Given the description of an element on the screen output the (x, y) to click on. 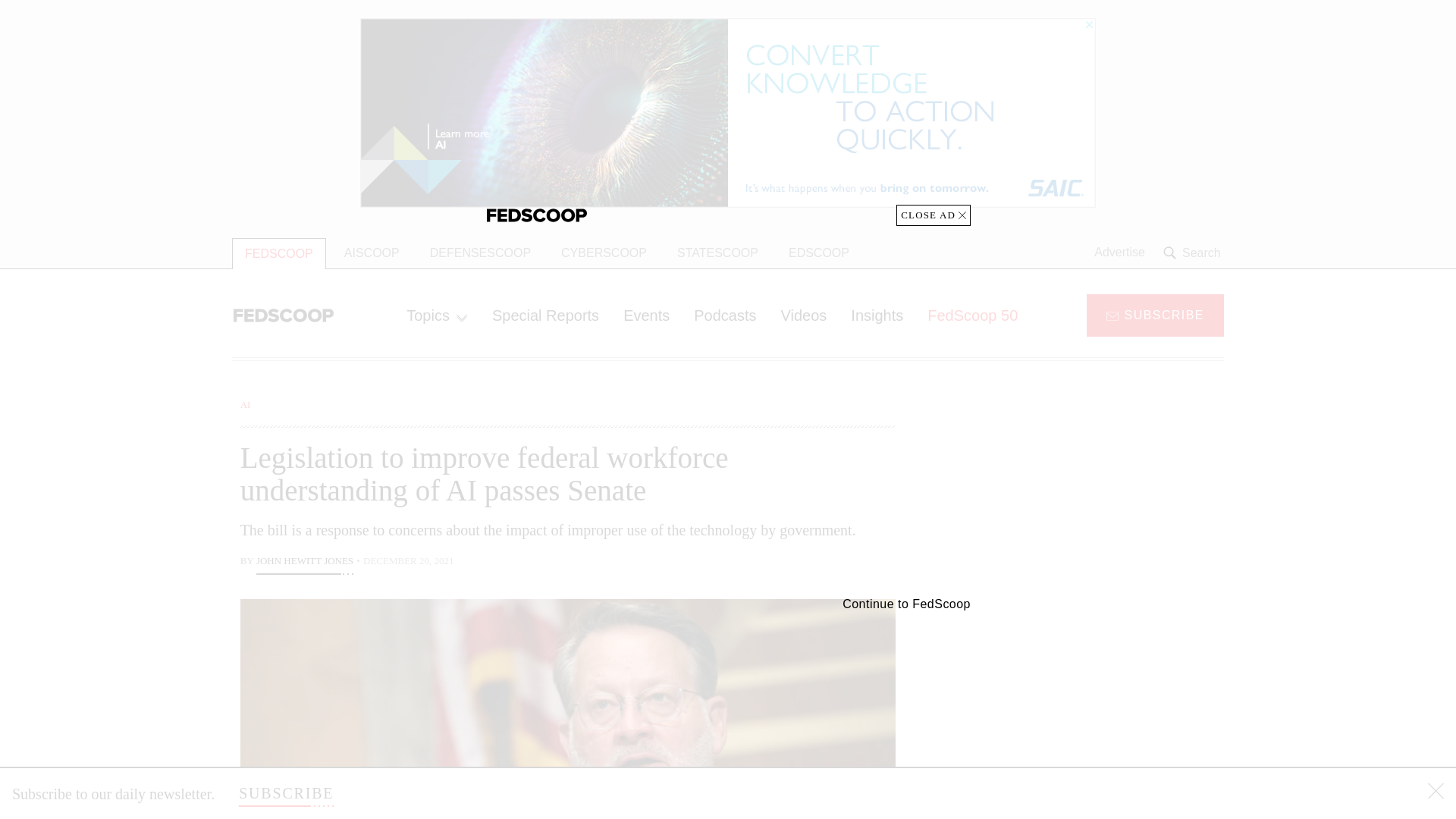
DEFENSESCOOP (480, 253)
Search (1193, 252)
SUBSCRIBE (1155, 314)
FEDSCOOP (278, 253)
Advertise (1119, 252)
3rd party ad content (1101, 705)
CYBERSCOOP (603, 253)
Insights (876, 315)
EDSCOOP (818, 253)
FedScoop 50 (972, 315)
